Given the description of an element on the screen output the (x, y) to click on. 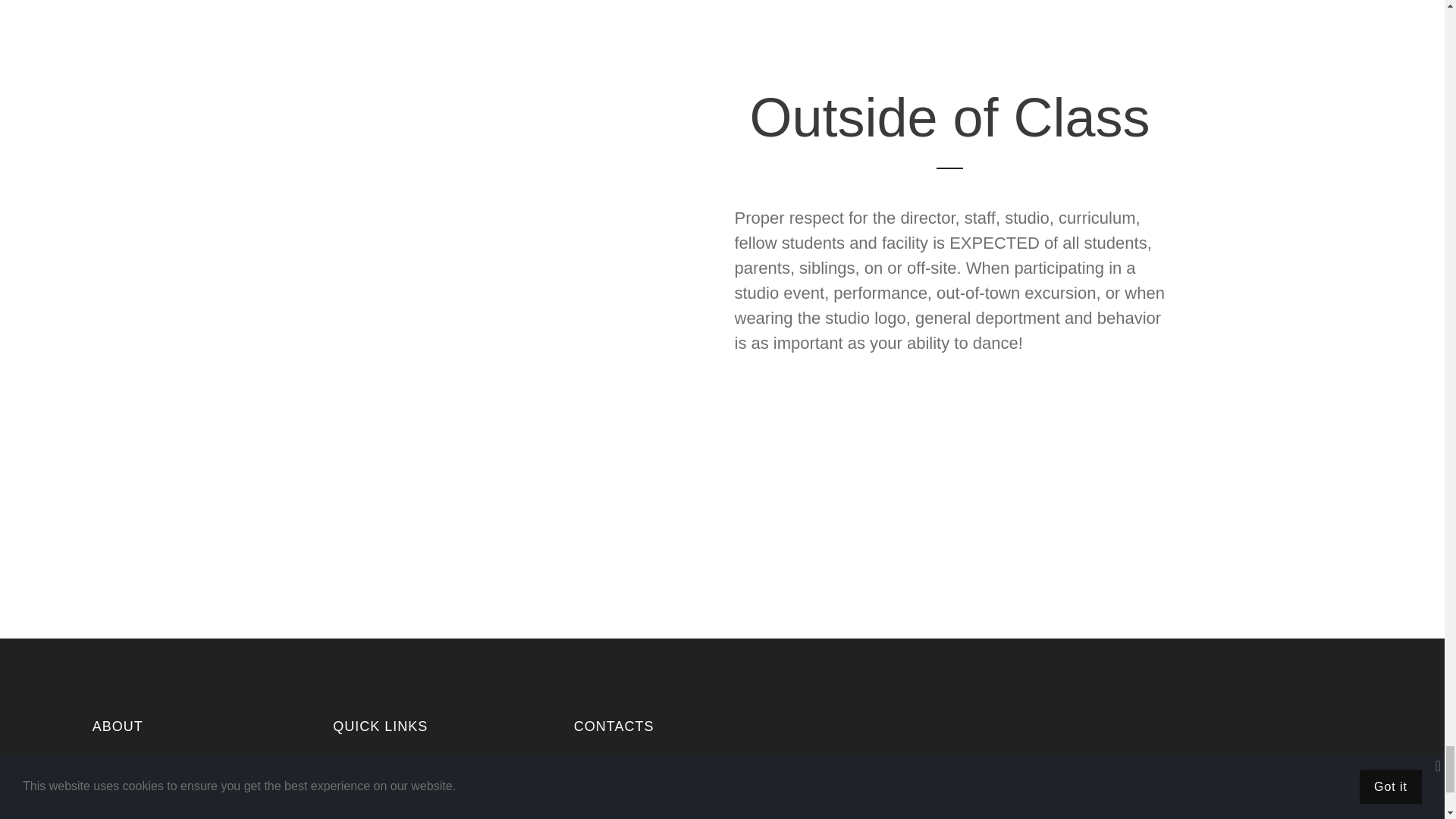
Abou (370, 784)
Gallery (375, 812)
